Given the description of an element on the screen output the (x, y) to click on. 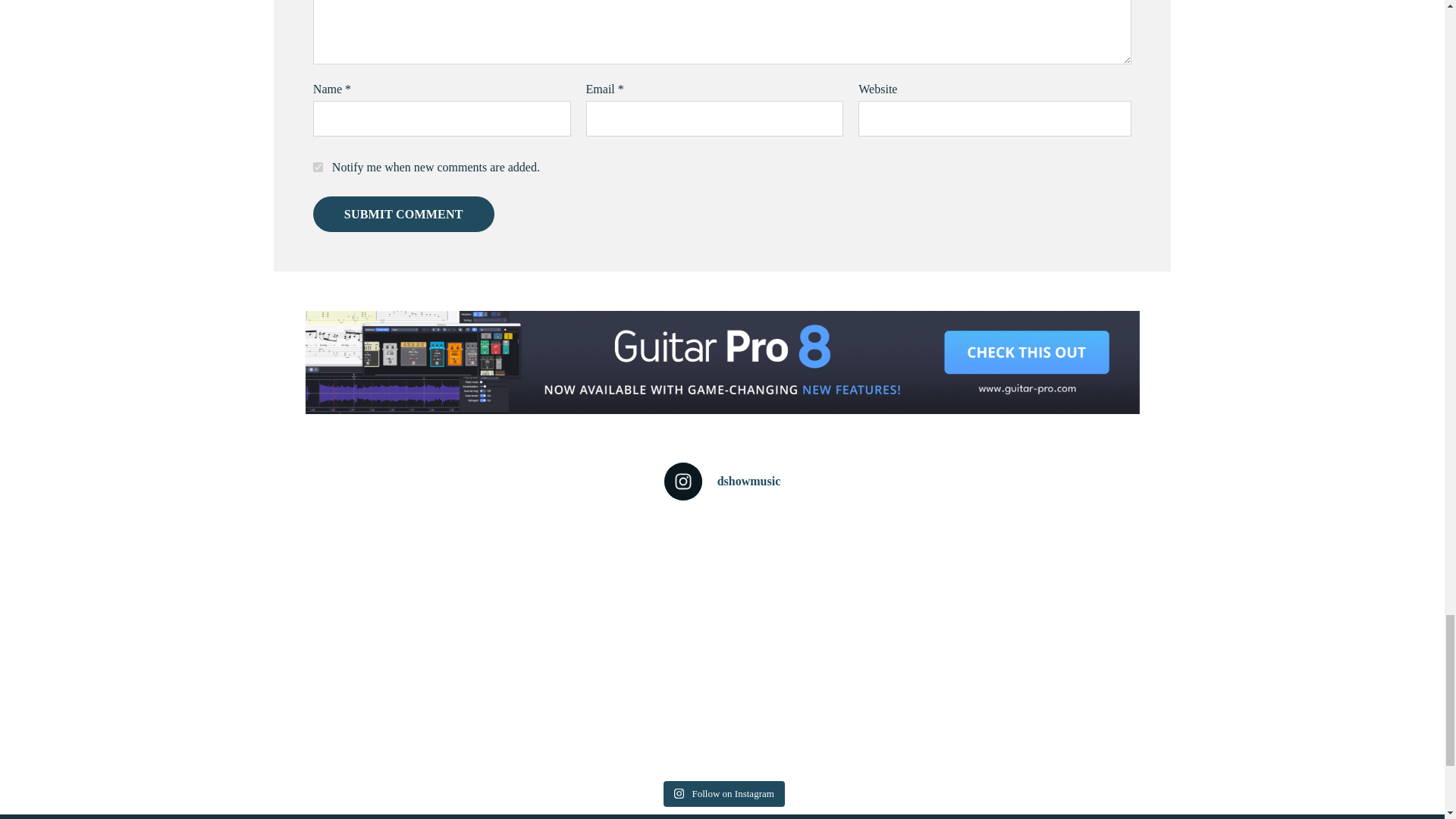
Submit Comment (404, 214)
1 (318, 166)
